Given the description of an element on the screen output the (x, y) to click on. 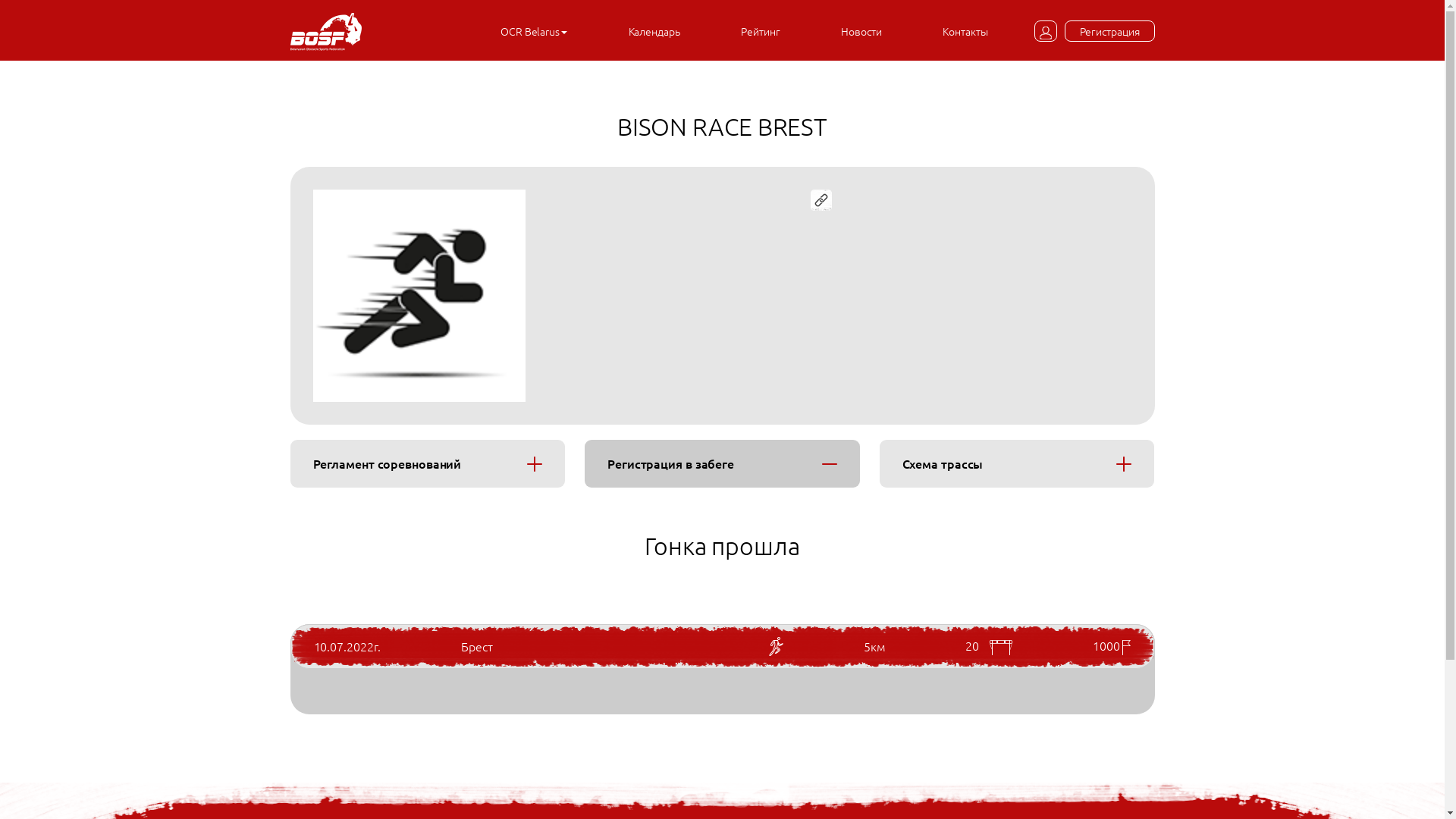
OCR Belarus Element type: text (533, 30)
